Given the description of an element on the screen output the (x, y) to click on. 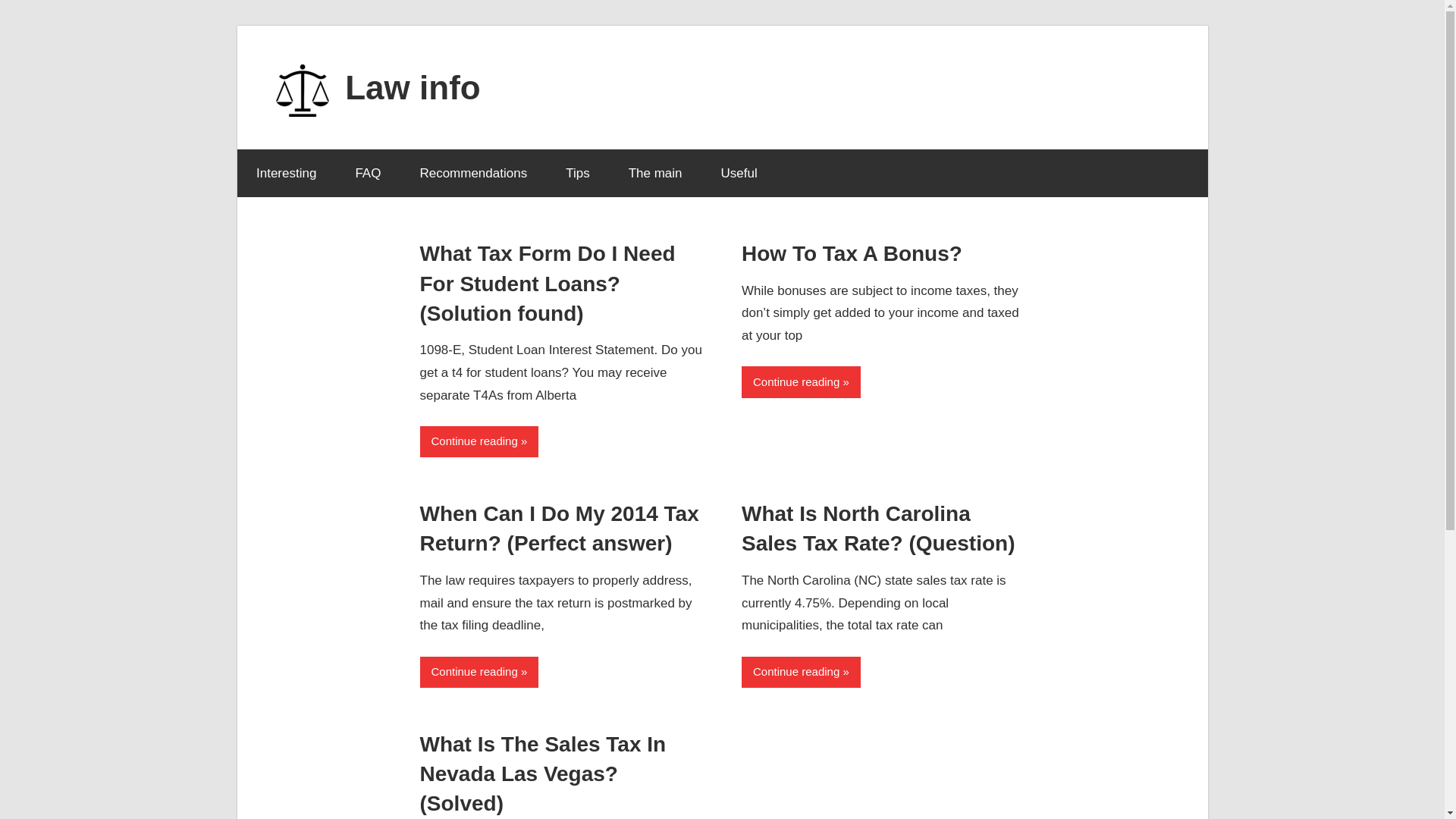
Interesting (284, 172)
Tips (578, 172)
Continue reading (800, 671)
The main (654, 172)
Law info (412, 86)
Continue reading (479, 671)
Continue reading (800, 381)
Continue reading (479, 441)
How To Tax A Bonus? (851, 253)
